Given the description of an element on the screen output the (x, y) to click on. 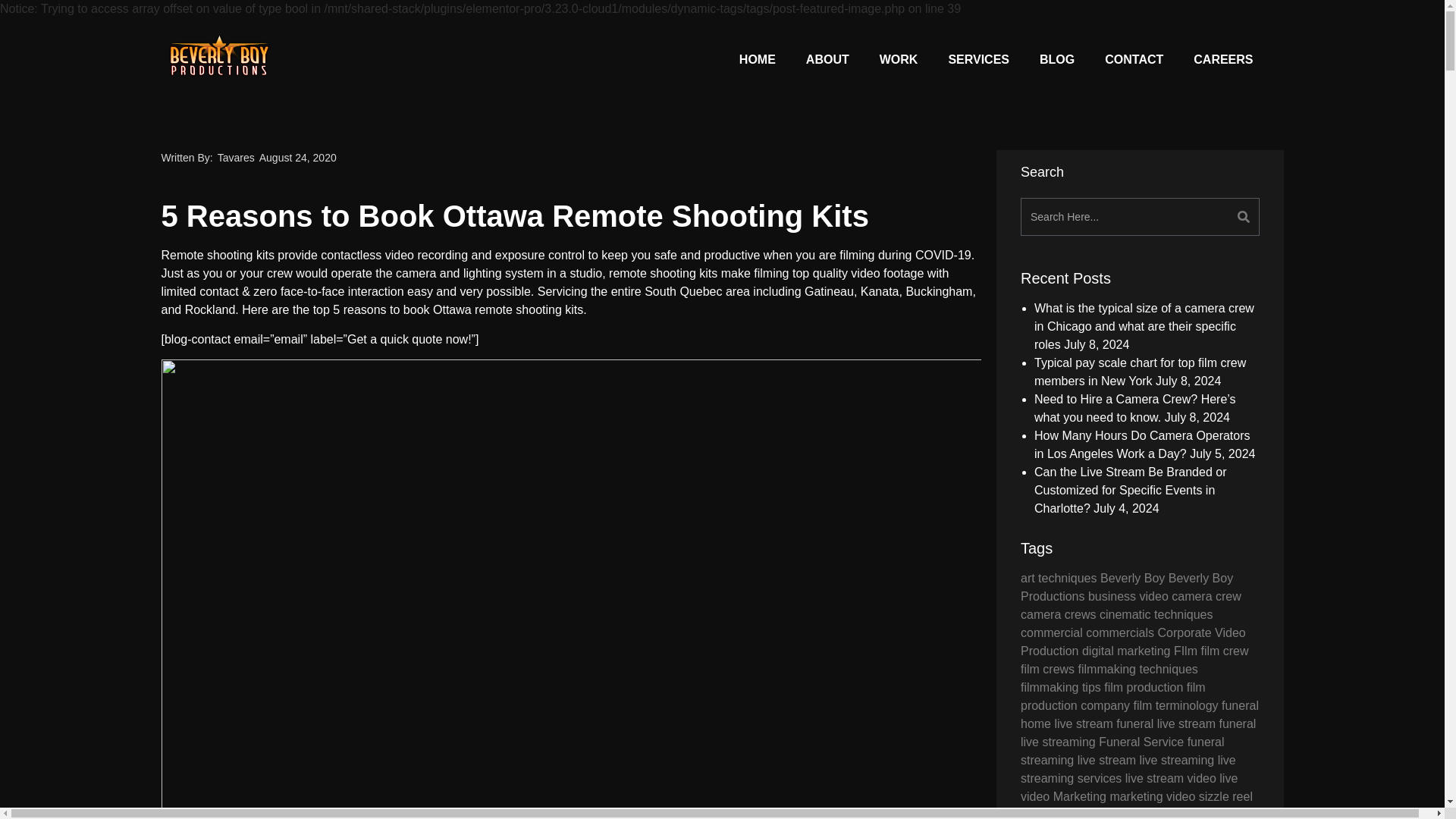
camera crews (1058, 614)
COVID-19 (943, 254)
CAREERS (1222, 59)
Beverly Boy (1132, 577)
August 24, 2020 (297, 157)
cinematic techniques (1155, 614)
. (972, 254)
commercials (1120, 632)
WORK (898, 59)
art techniques (1058, 577)
HOME (756, 59)
commercial (1051, 632)
ABOUT (827, 59)
Beverly Boy Productions (1126, 586)
